Given the description of an element on the screen output the (x, y) to click on. 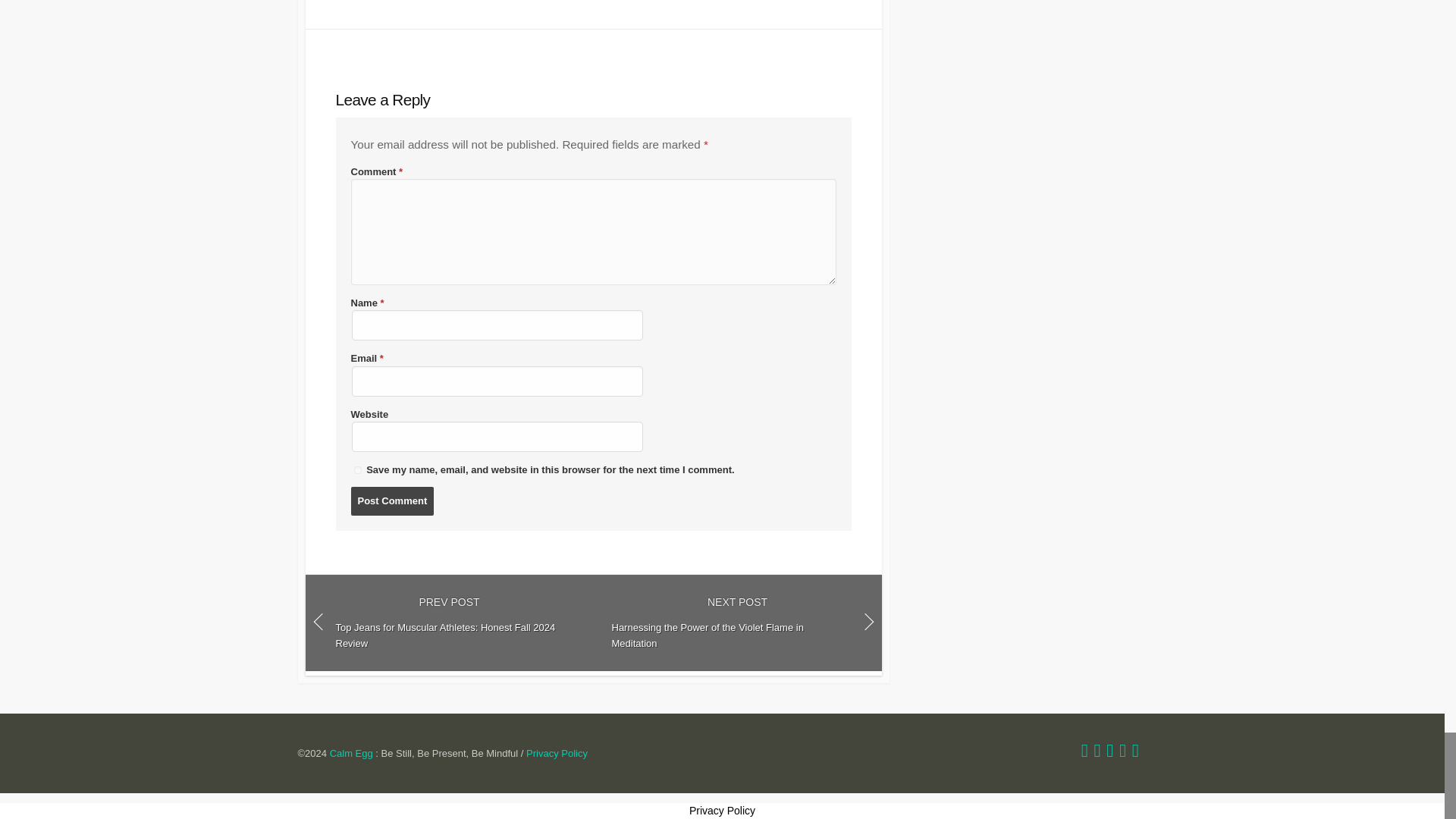
Post Comment (391, 500)
Linkedin (1109, 752)
Pinterest (1135, 752)
Instagram (1122, 752)
yes (357, 470)
Facebook (1097, 752)
Twitter (1084, 752)
